Given the description of an element on the screen output the (x, y) to click on. 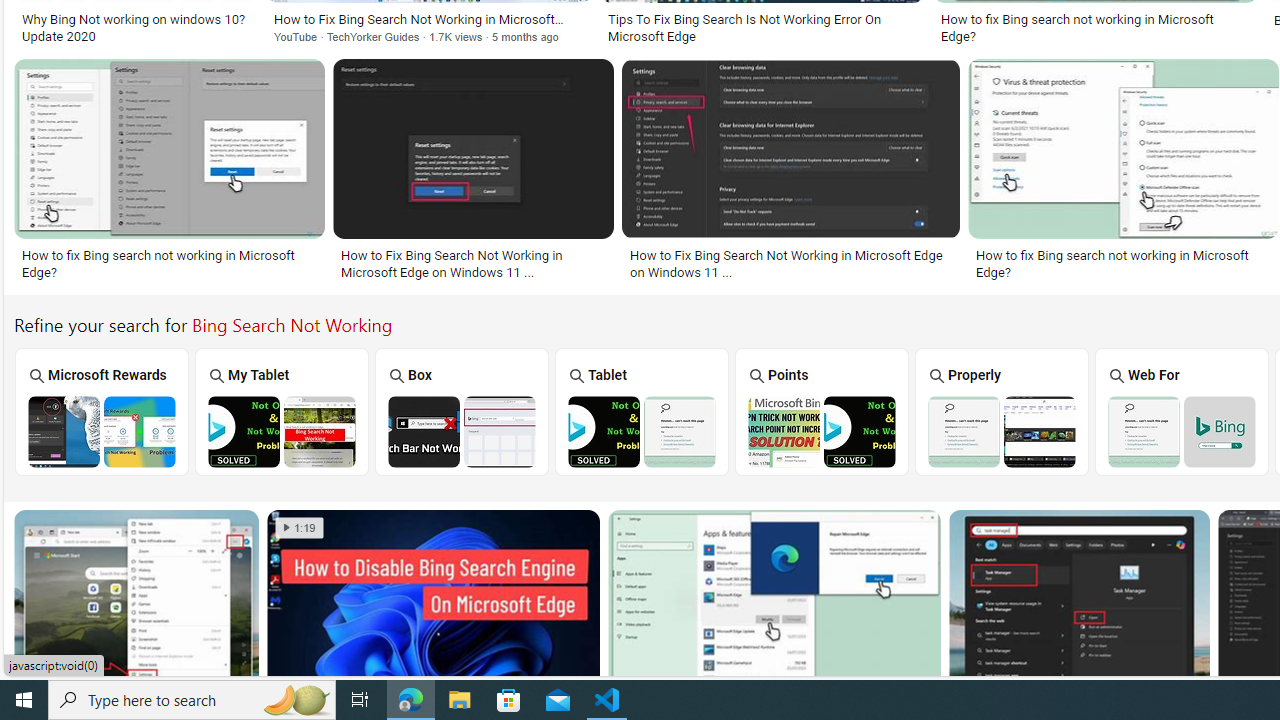
Bing Search Not Working Properly (1002, 431)
Why Bing Not working on windows 10? Update 2020 (135, 27)
How to fix Bing search not working in Microsoft Edge? (1123, 263)
Microsoft Rewards (101, 411)
Microsoft Rewards Bing Search Not Working (102, 431)
Points (821, 411)
Bing Search Not Working On My Tablet My Tablet (281, 411)
Bing Search Not Working Properly Properly (1002, 411)
Bing Tablet Search Not Working (641, 431)
Image result for Bing Search Not Working (1078, 602)
Microsoft Rewards Bing Search Not Working Microsoft Rewards (101, 411)
How to fix Bing search not working in Microsoft Edge? (1123, 263)
